Given the description of an element on the screen output the (x, y) to click on. 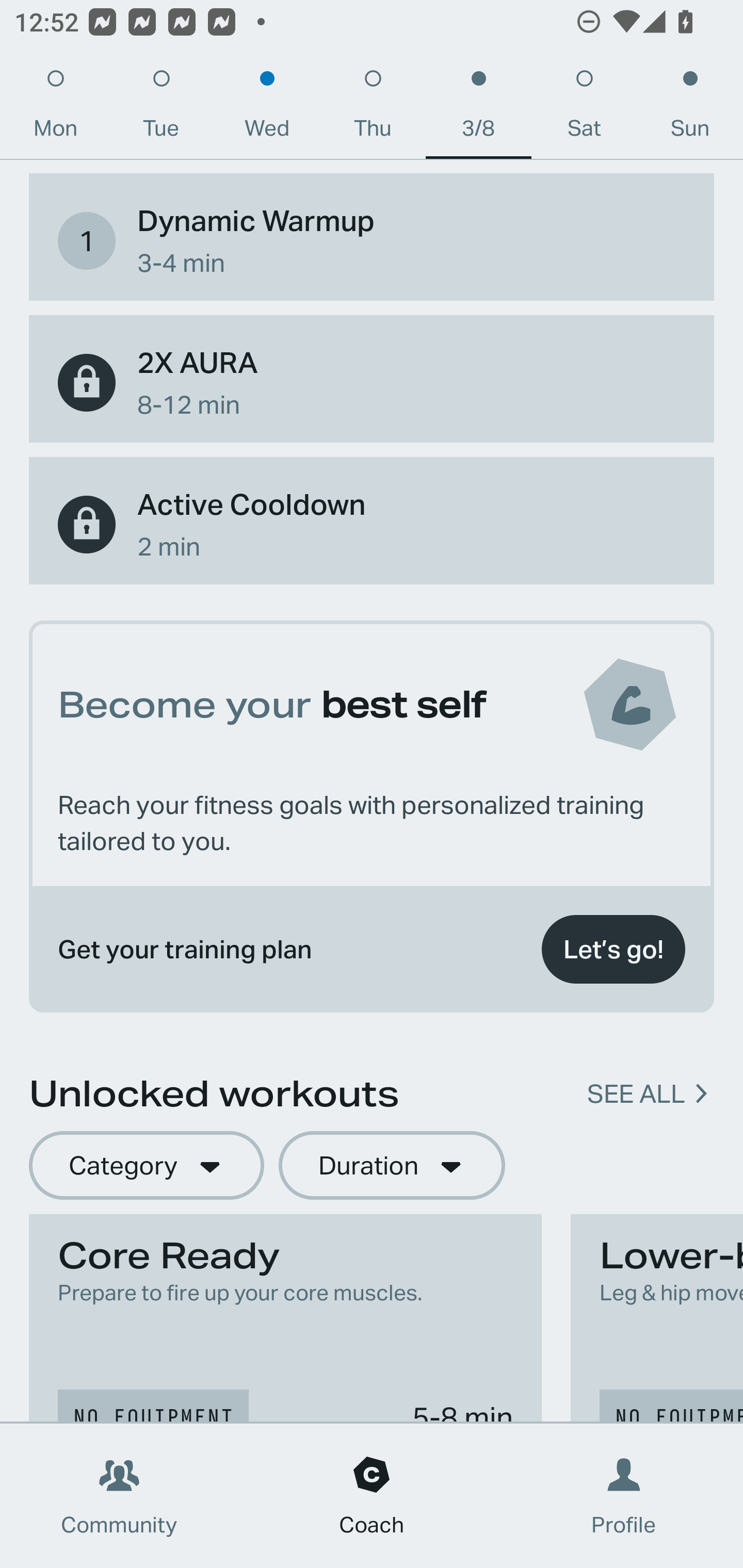
Mon (55, 108)
Tue (160, 108)
Wed (266, 108)
Thu (372, 108)
3/8 (478, 108)
Sat (584, 108)
Sun (690, 108)
1 Dynamic Warmup 3-4 min (371, 240)
2X AURA 8-12 min (371, 382)
Active Cooldown 2 min (371, 524)
Let’s go! (613, 949)
SEE ALL (635, 1093)
Category (146, 1165)
Duration (391, 1165)
Community (119, 1495)
Profile (624, 1495)
